Given the description of an element on the screen output the (x, y) to click on. 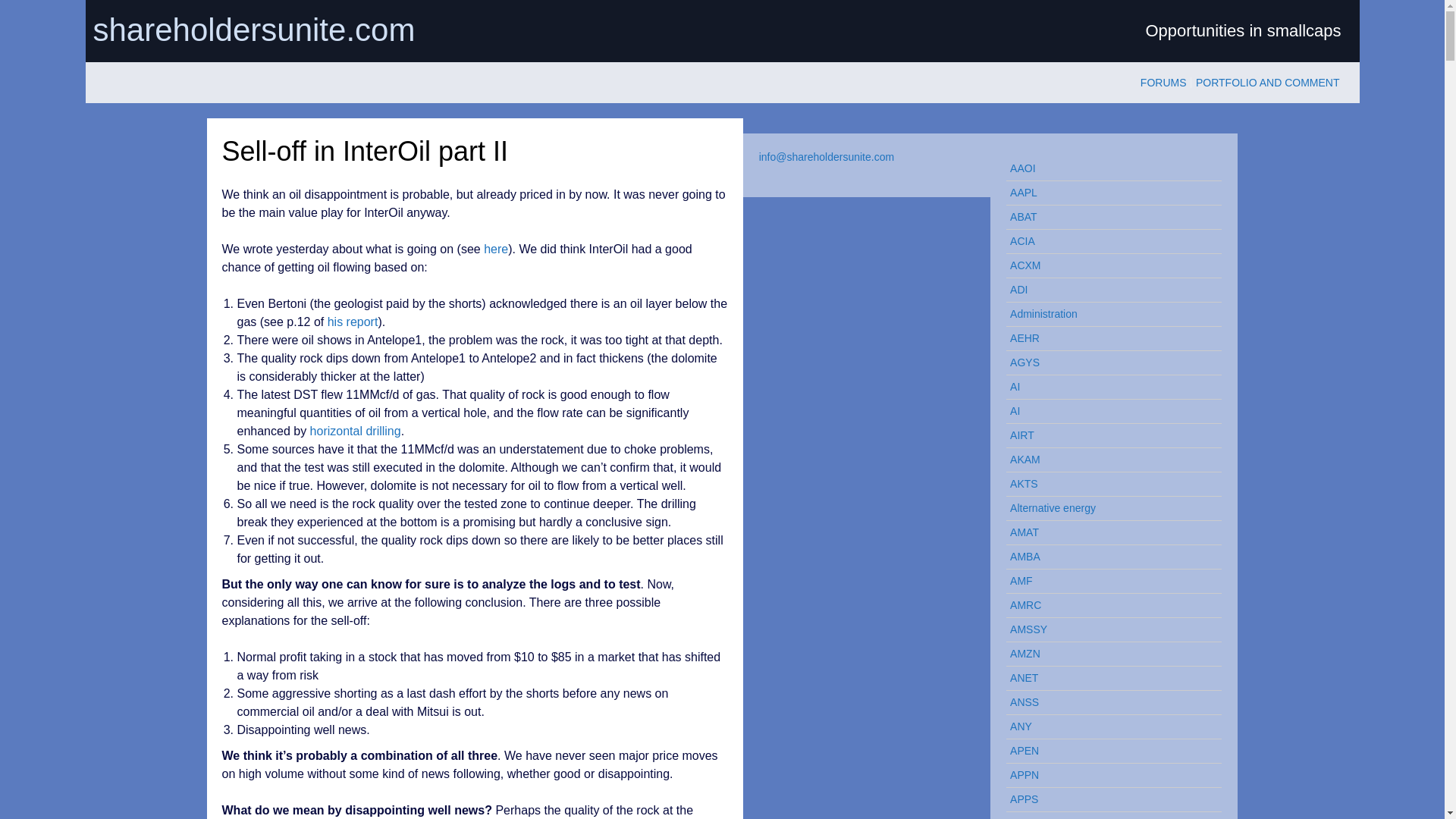
AKTS (1107, 484)
shareholdersunite.com (403, 30)
AGYS (1107, 362)
AKAM (1107, 459)
Administration (1107, 313)
AI (1107, 386)
AAOI (1107, 168)
his report (352, 321)
ADI (1107, 290)
AEHR (1107, 338)
